Given the description of an element on the screen output the (x, y) to click on. 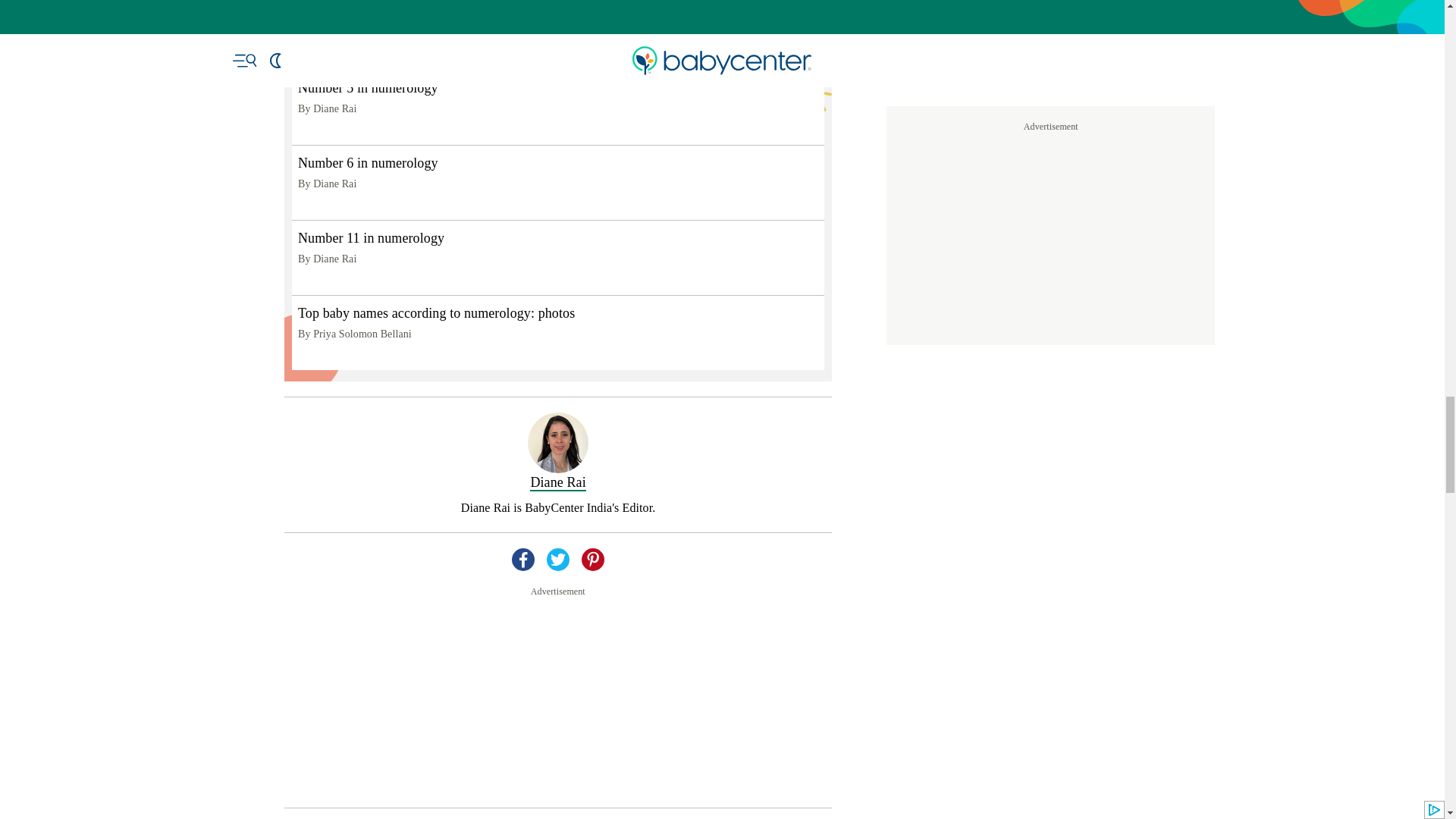
Pinterest (592, 710)
Twitter (558, 710)
Facebook (523, 710)
